Given the description of an element on the screen output the (x, y) to click on. 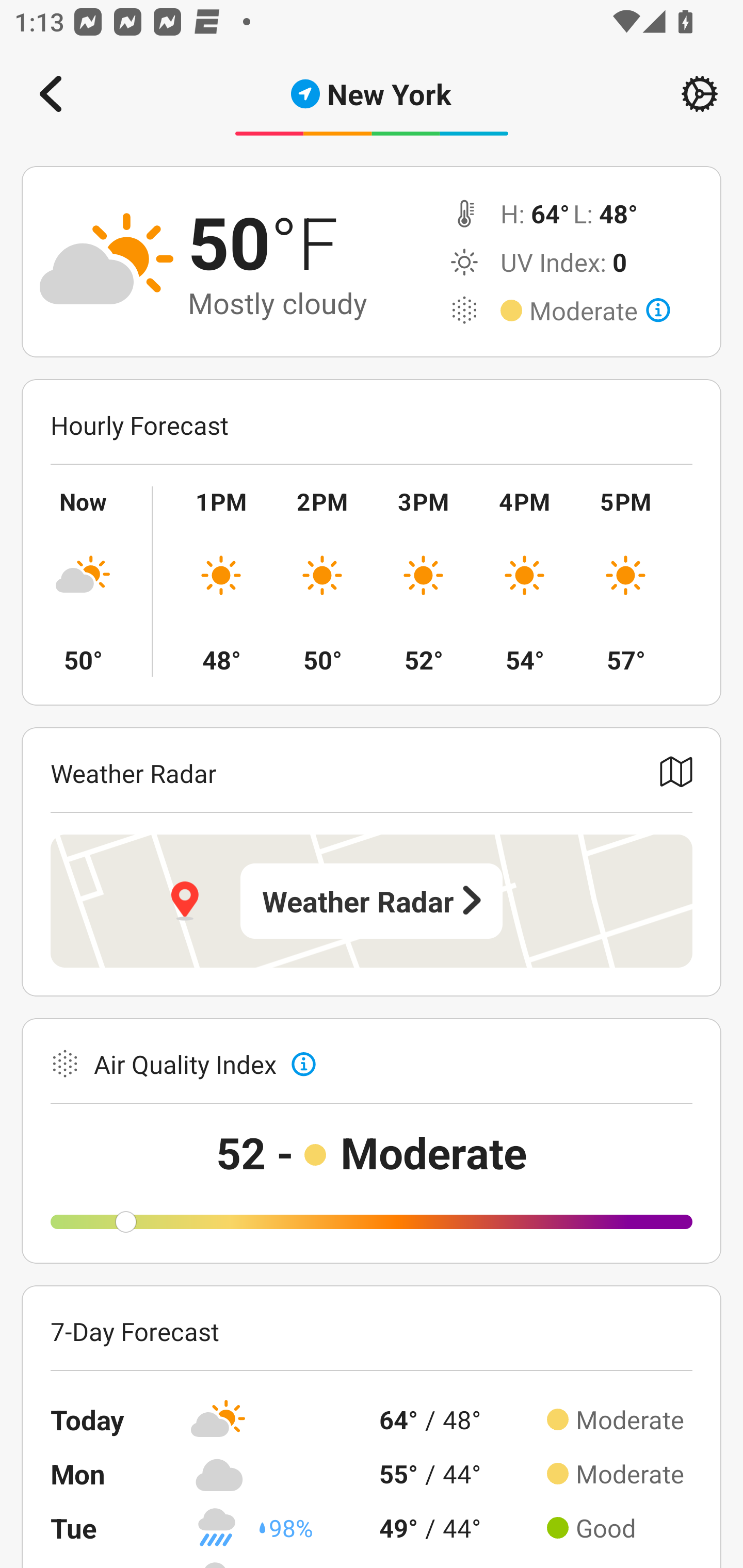
Navigate up (50, 93)
Setting (699, 93)
Moderate (599, 310)
Weather Radar (371, 900)
